Given the description of an element on the screen output the (x, y) to click on. 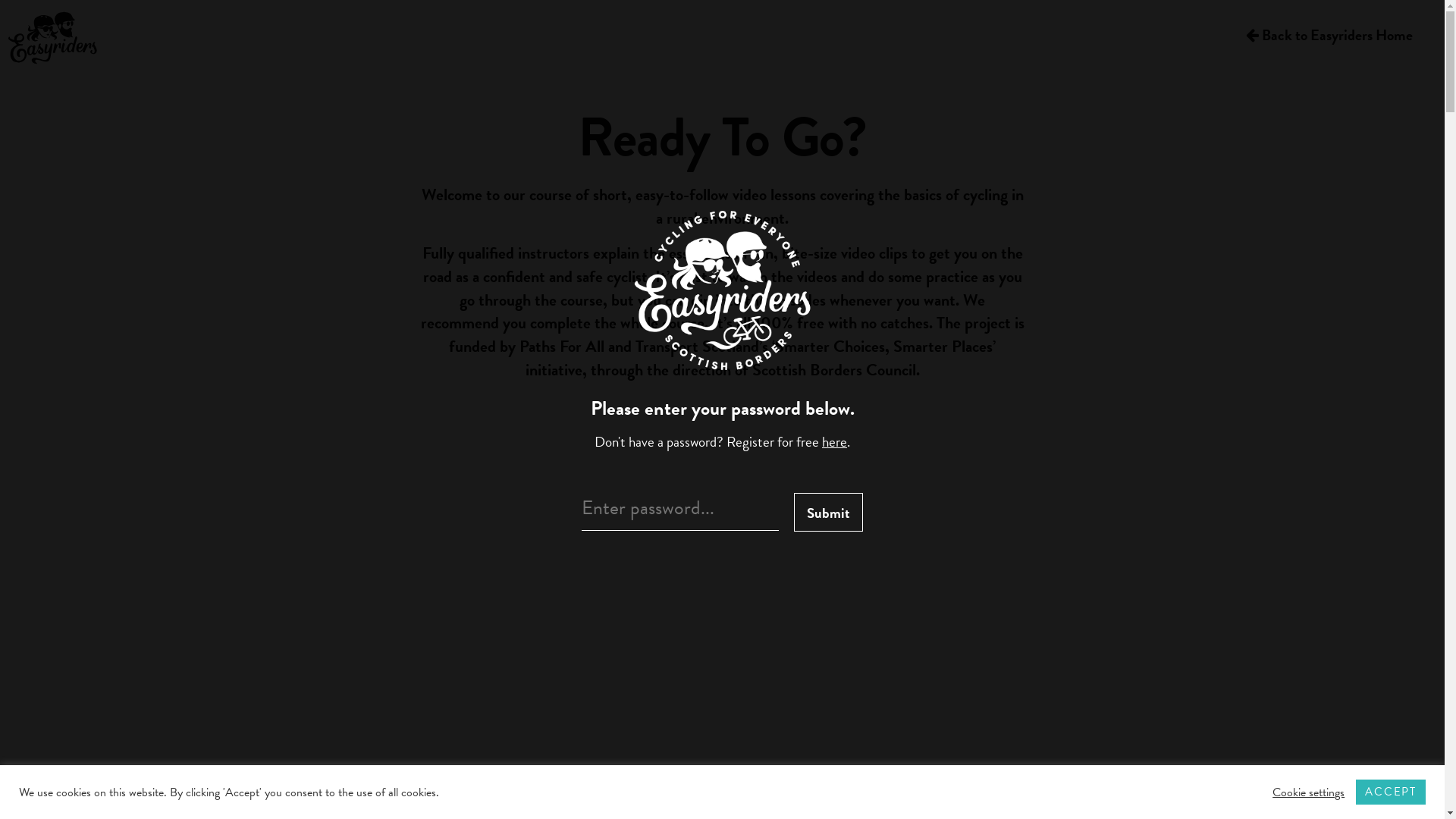
INTRO Element type: hover (721, 582)
Back to Easyriders Home Element type: text (1328, 36)
Submit Element type: text (827, 511)
Cookie settings Element type: text (1308, 791)
ACCEPT Element type: text (1390, 791)
here Element type: text (834, 441)
